Given the description of an element on the screen output the (x, y) to click on. 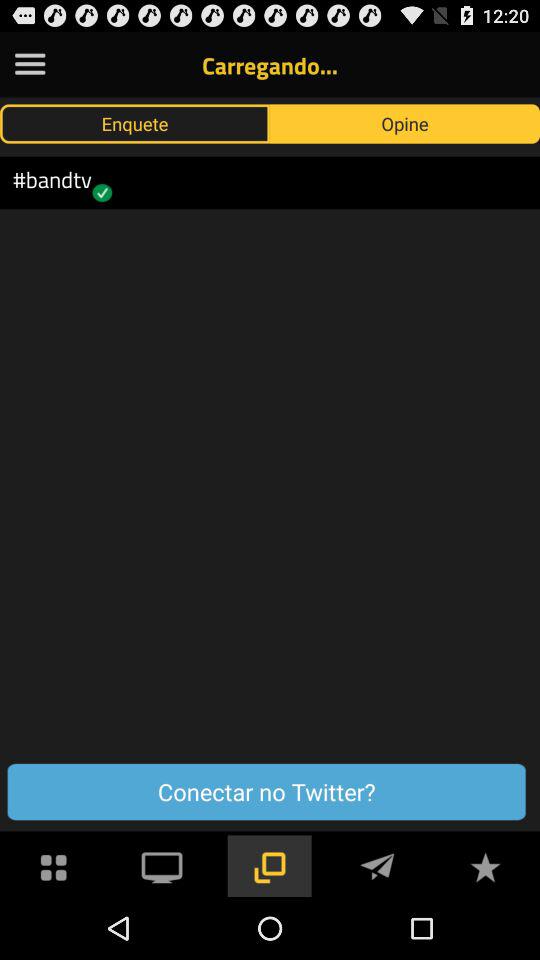
send this message (377, 865)
